Given the description of an element on the screen output the (x, y) to click on. 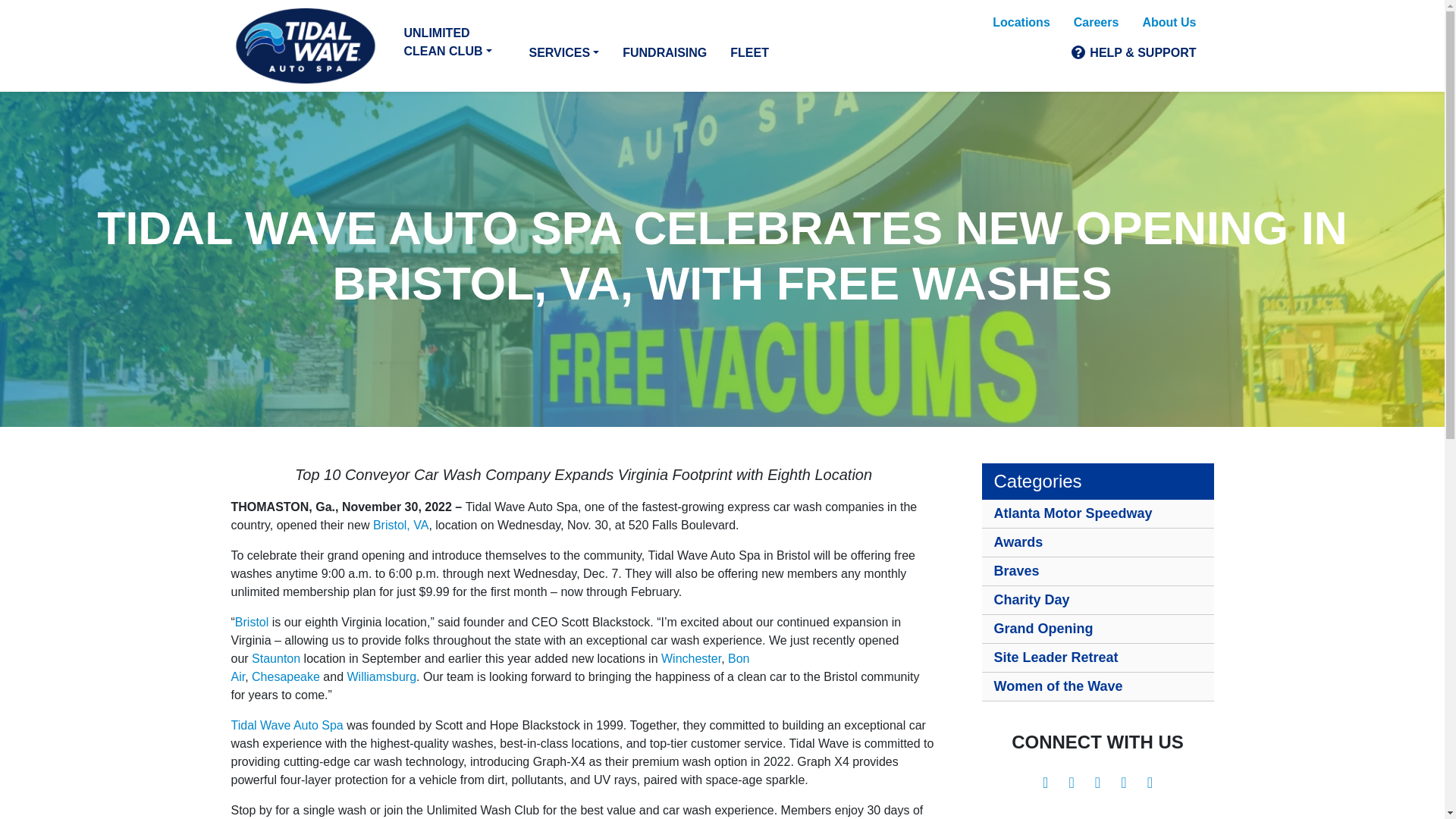
Williamsburg (381, 676)
Unlimited Clean Club (454, 42)
Services (563, 52)
Locations (1022, 22)
Locations (1022, 22)
Fundraising (664, 52)
FLEET (748, 52)
UNLIMITED CLEAN CLUB (454, 42)
Bristol (250, 621)
Winchester (690, 658)
